Given the description of an element on the screen output the (x, y) to click on. 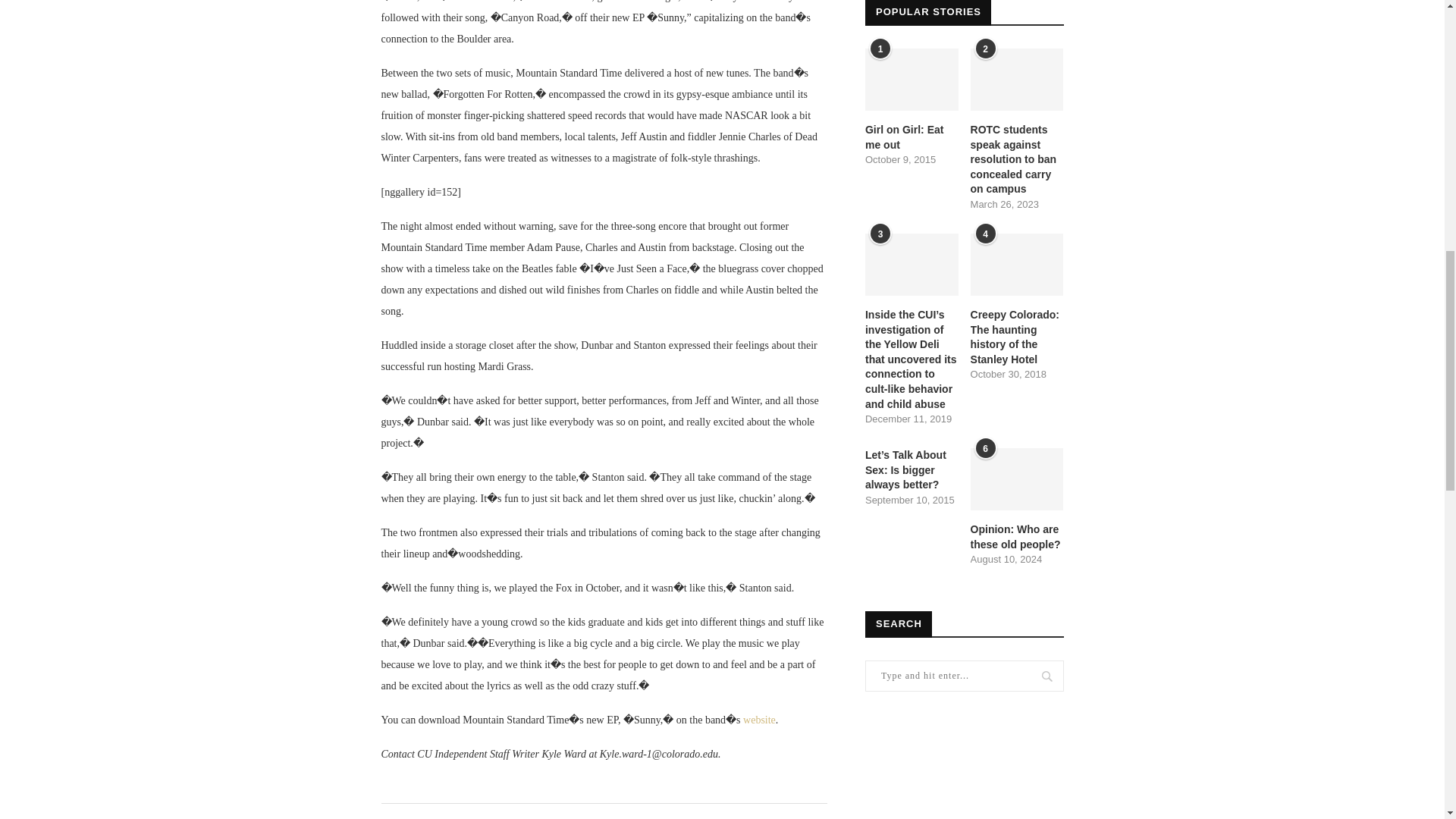
Girl on Girl: Eat me out (911, 79)
Girl on Girl: Eat me out (911, 137)
Creepy Colorado: The haunting history of the Stanley Hotel (1017, 264)
